Given the description of an element on the screen output the (x, y) to click on. 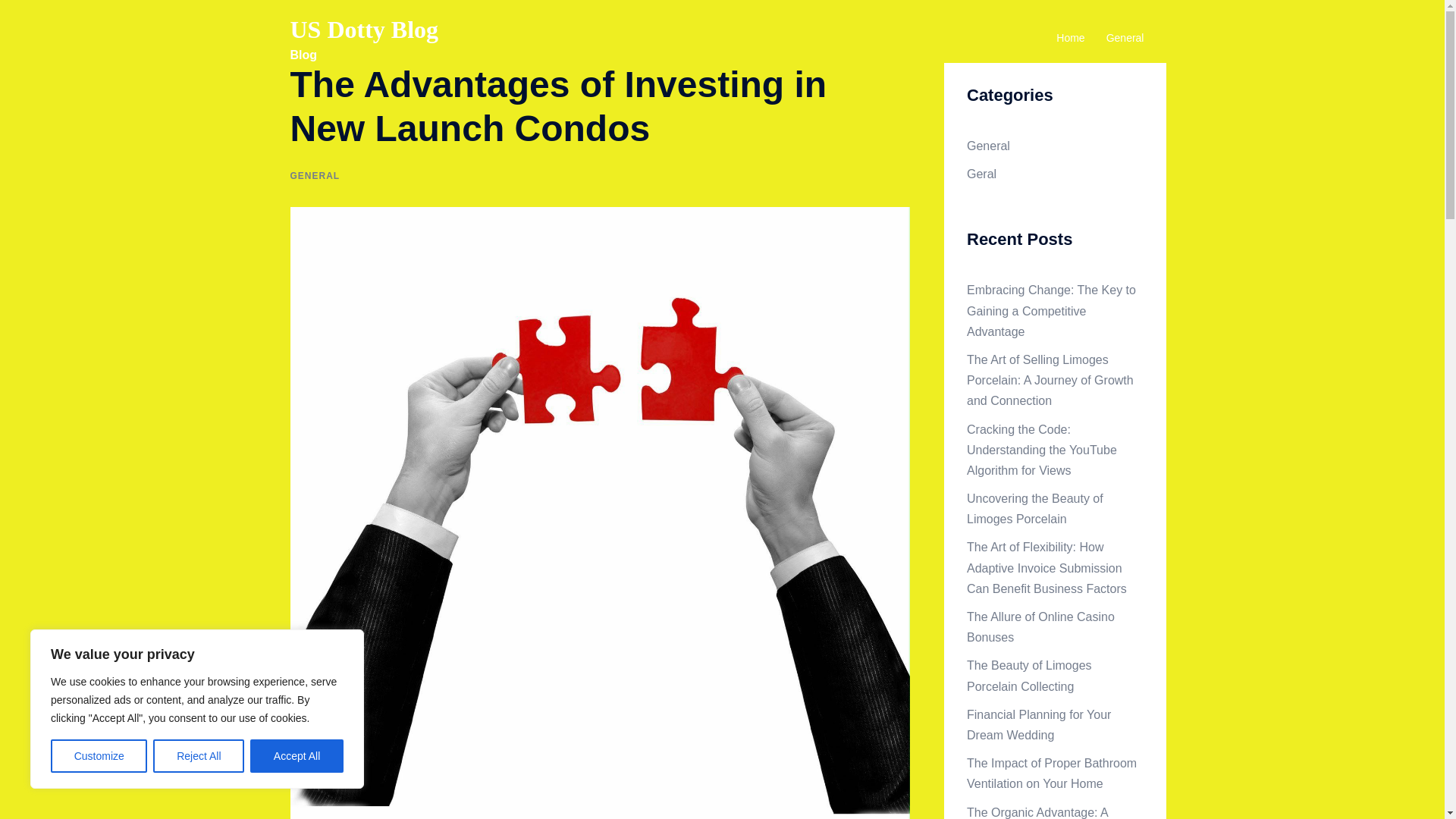
Financial Planning for Your Dream Wedding (1038, 725)
Geral (980, 173)
General (988, 145)
Accept All (296, 756)
The Allure of Online Casino Bonuses (1040, 626)
GENERAL (314, 175)
General (1125, 38)
Home (1070, 38)
Embracing Change: The Key to Gaining a Competitive Advantage (1050, 310)
Customize (98, 756)
The Beauty of Limoges Porcelain Collecting (1029, 675)
US Dotty Blog (363, 29)
